Given the description of an element on the screen output the (x, y) to click on. 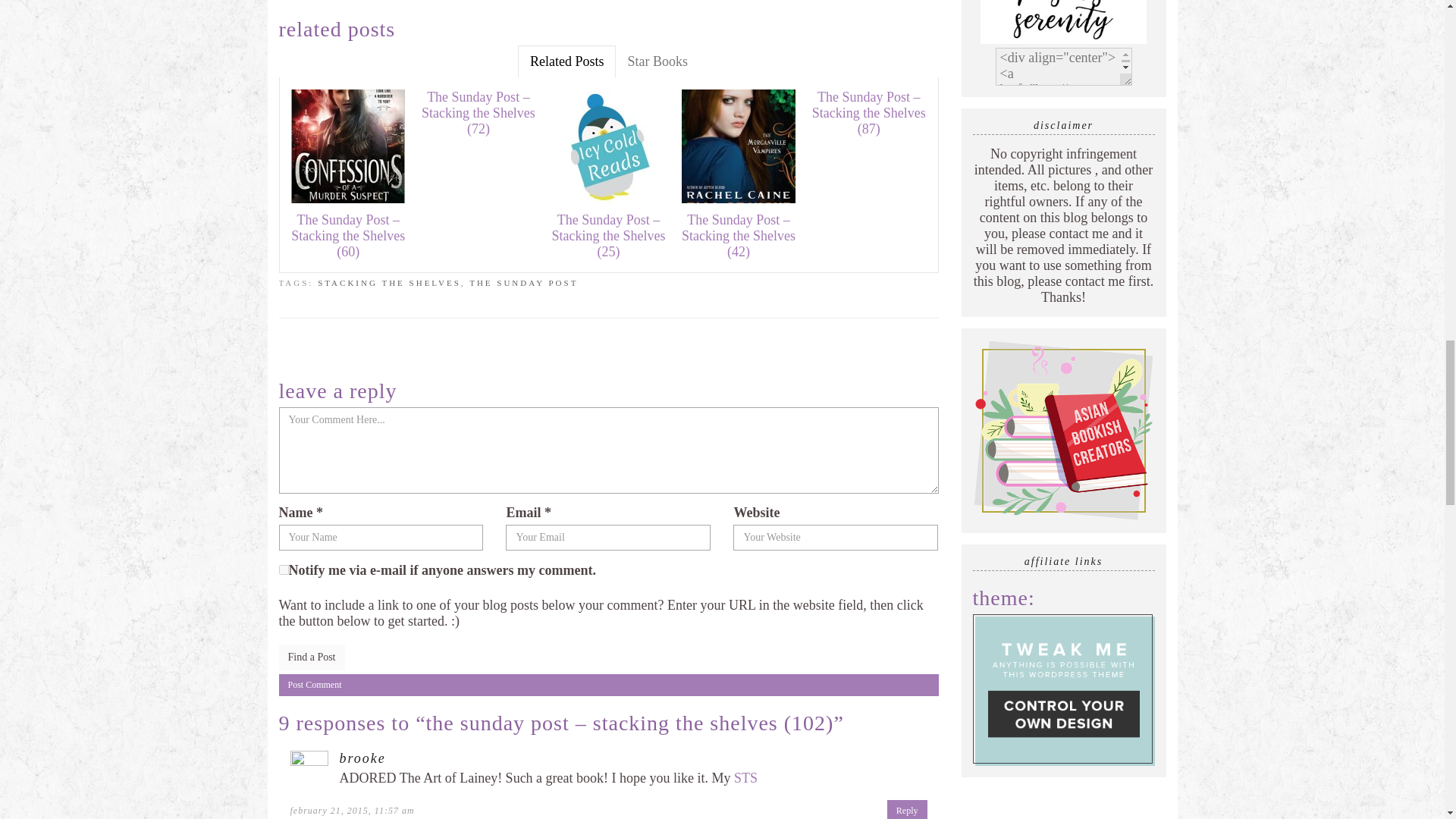
on (283, 569)
Post Comment (609, 685)
Tweak Me - Anything is possible with this WordPress theme (1063, 688)
Paging Serenity Button (1063, 22)
Related Posts (566, 60)
Star Books (656, 60)
